Given the description of an element on the screen output the (x, y) to click on. 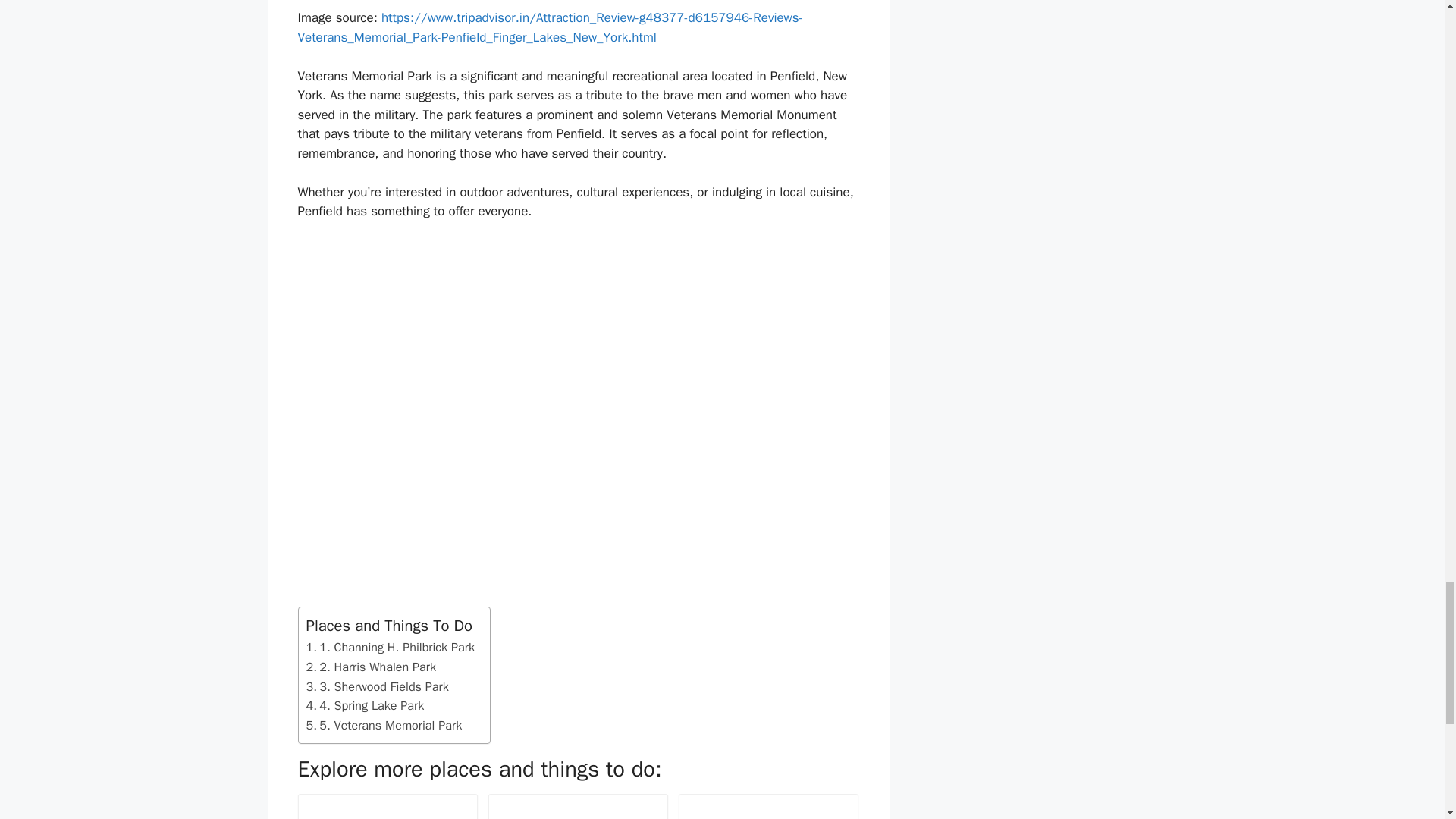
5. Veterans Memorial Park (384, 725)
2. Harris Whalen Park (370, 667)
1. Channing H. Philbrick Park (389, 647)
42 Best Places and Things To Do in New York, New York (578, 811)
2. Harris Whalen Park (370, 667)
5. Veterans Memorial Park (384, 725)
3. Sherwood Fields Park (376, 686)
1. Channing H. Philbrick Park (389, 647)
22 Best Places and Things To Do in Rochester, New York (387, 807)
25 Best Places and Things To Do in Niagara Falls, New York (768, 807)
